Given the description of an element on the screen output the (x, y) to click on. 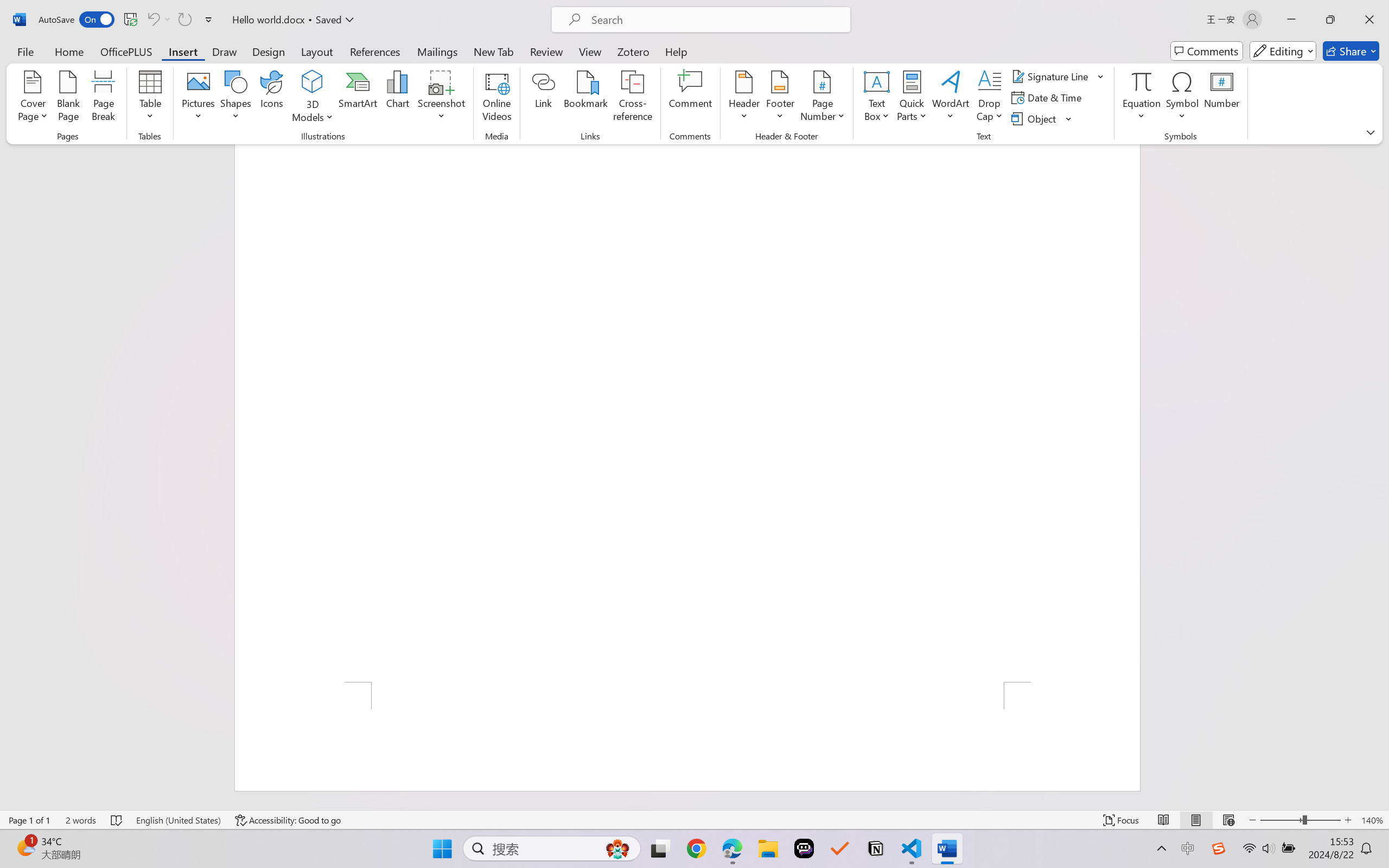
Class: Image (1218, 847)
Zoom Out (1280, 819)
Zoom 140% (1372, 819)
More Options (167, 19)
Zoom (1300, 819)
Can't Undo (158, 19)
Microsoft search (715, 19)
View (589, 51)
